Given the description of an element on the screen output the (x, y) to click on. 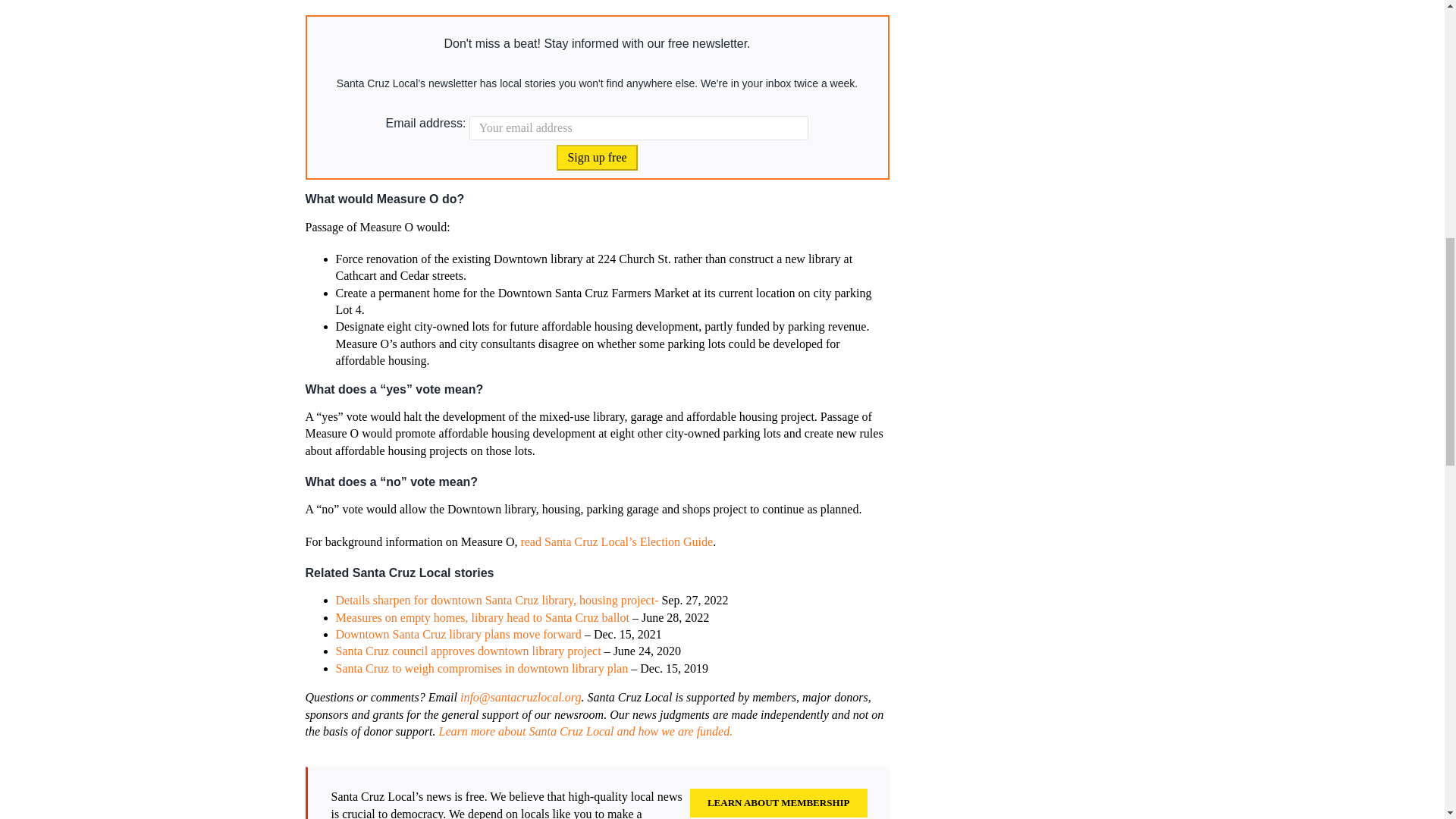
Sign up free (596, 157)
